Given the description of an element on the screen output the (x, y) to click on. 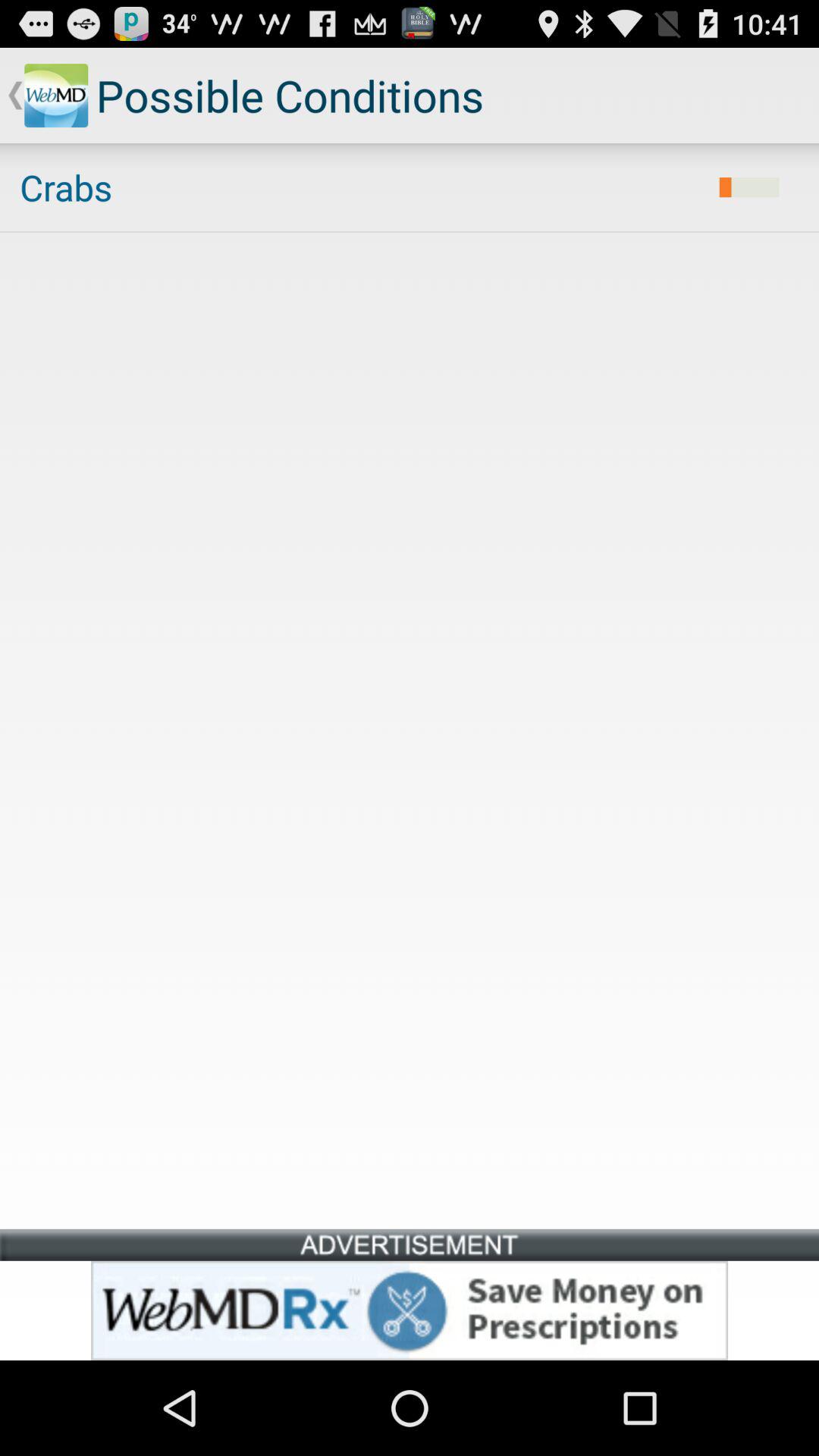
choose the icon to the right of the crabs icon (749, 187)
